Given the description of an element on the screen output the (x, y) to click on. 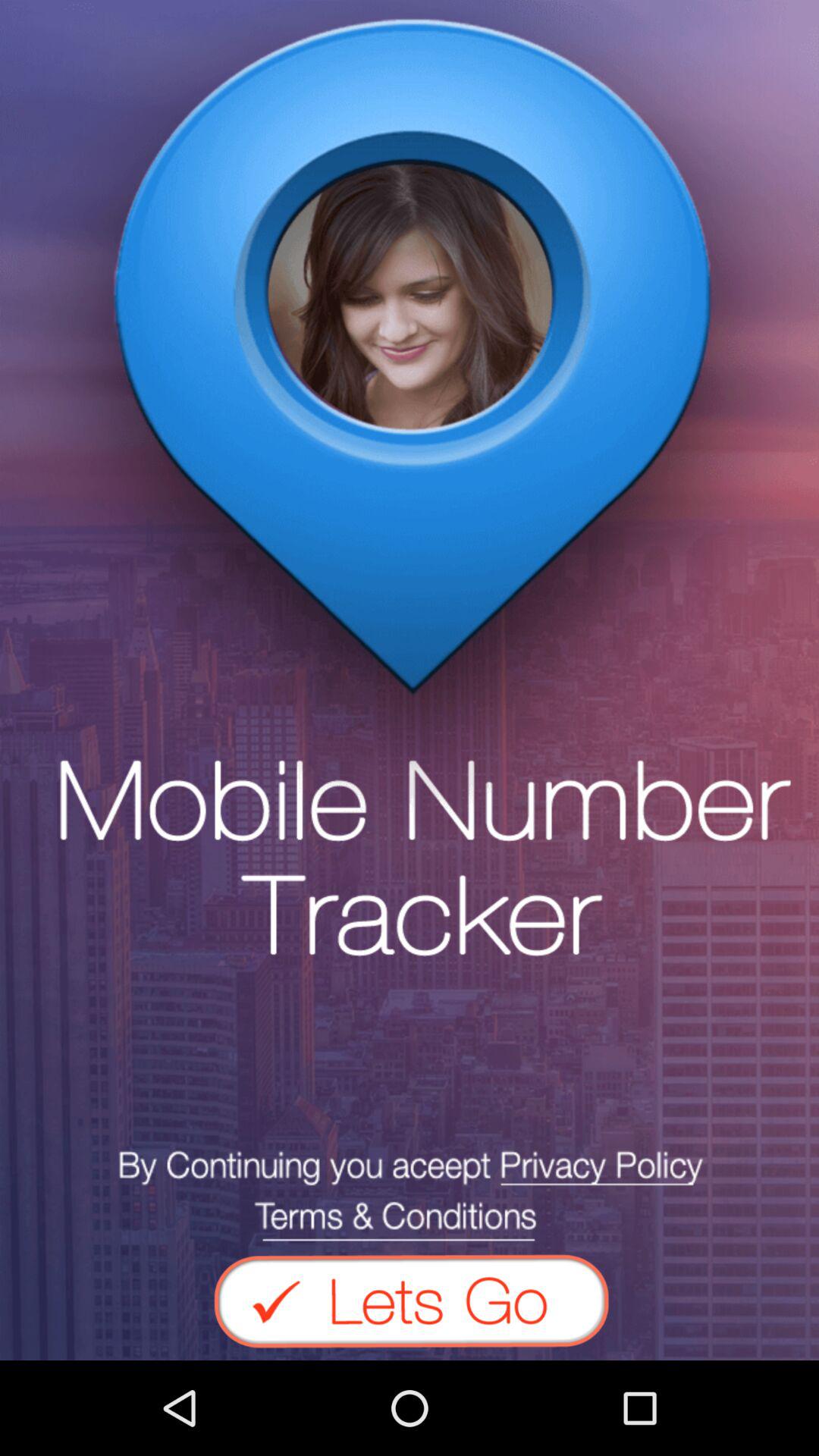
see privacy policy (409, 1195)
